Given the description of an element on the screen output the (x, y) to click on. 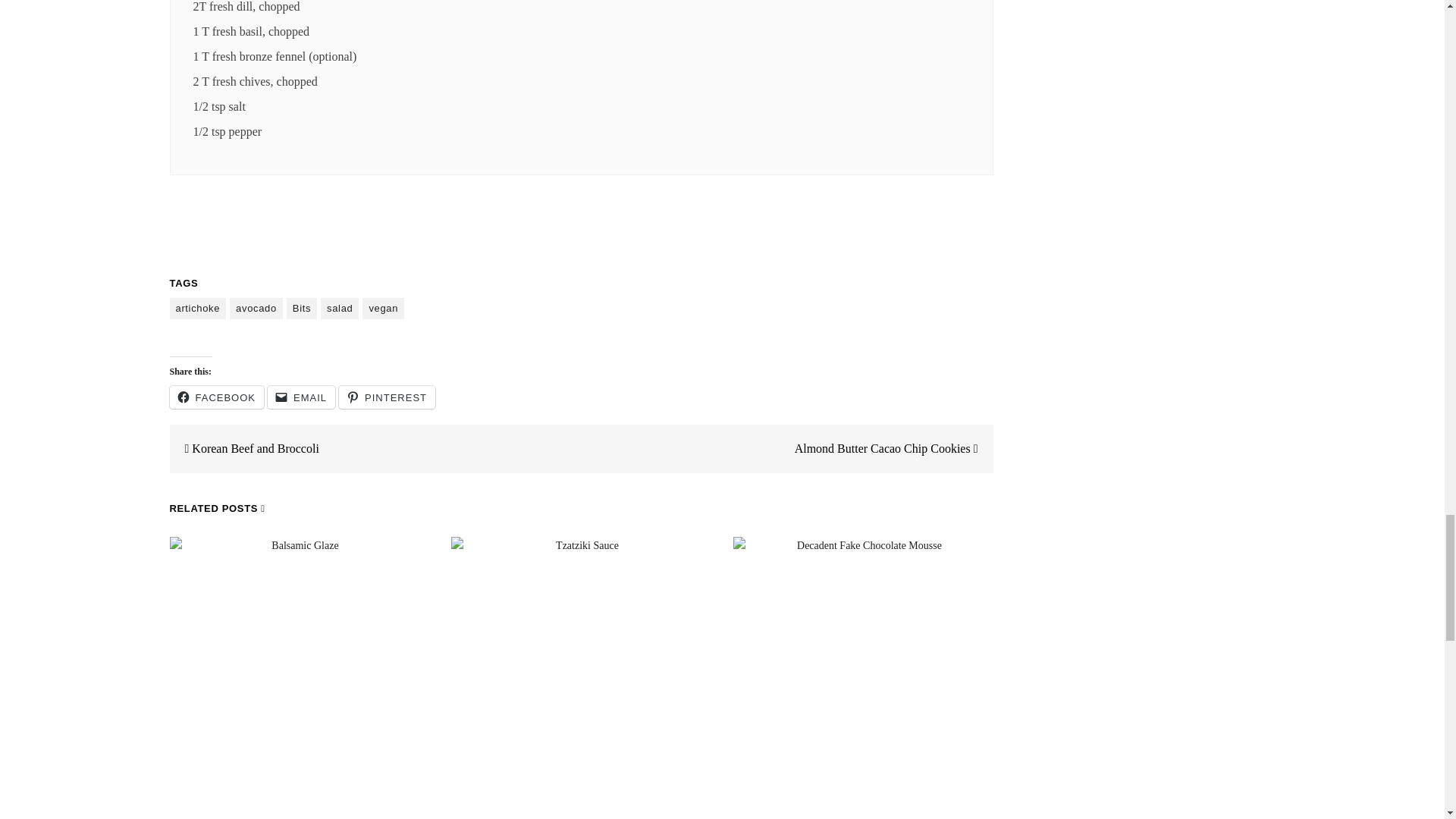
Click to email a link to a friend (300, 396)
Click to share on Facebook (217, 396)
Bits (301, 308)
vegan (383, 308)
salad (339, 308)
avocado (256, 308)
Click to share on Pinterest (387, 396)
Korean Beef and Broccoli (244, 449)
EMAIL (300, 396)
FACEBOOK (217, 396)
